Given the description of an element on the screen output the (x, y) to click on. 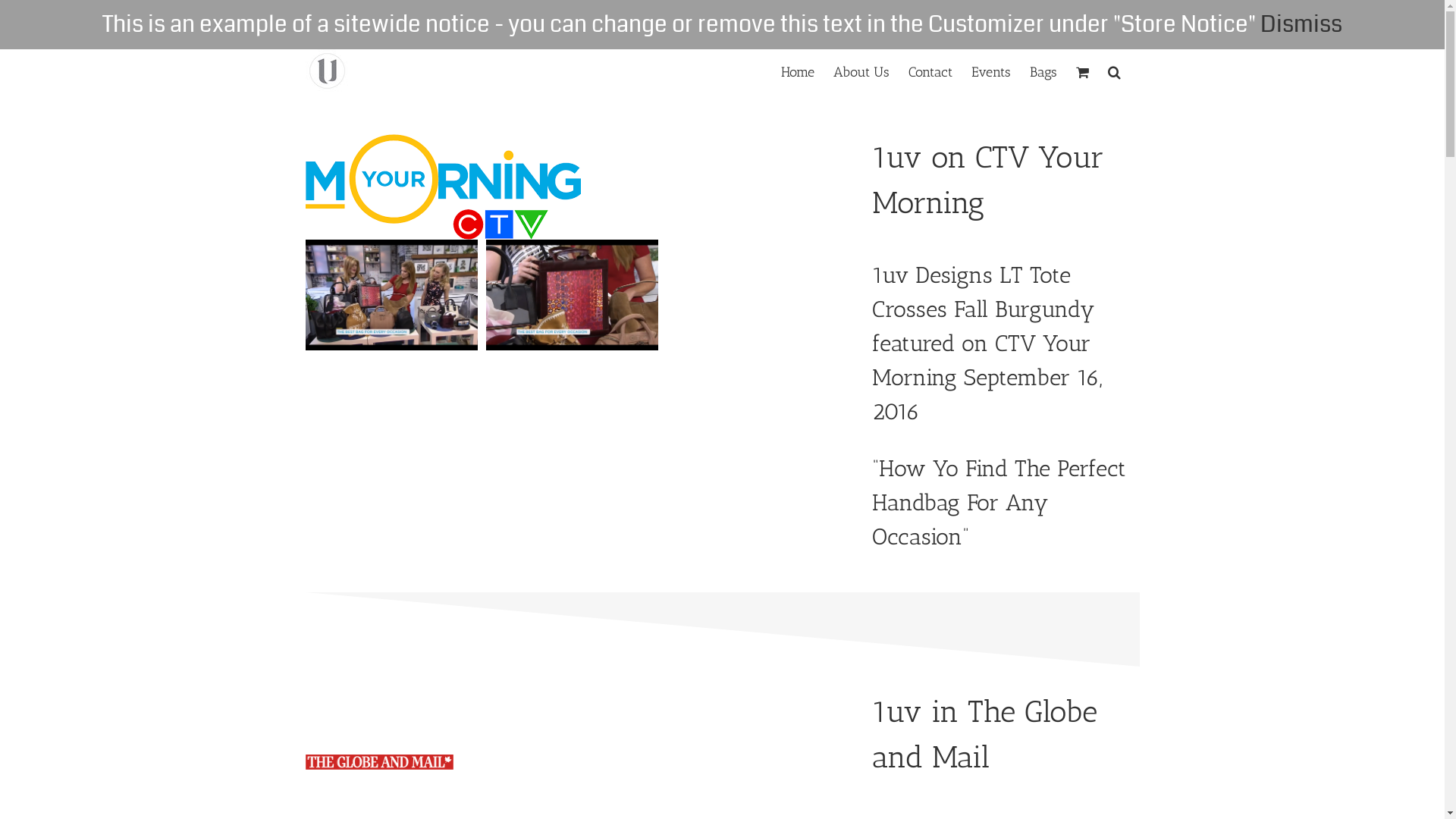
Bags Element type: text (1043, 70)
Screen Shot 2016-10-23 at 2.07.04 PM Element type: hover (390, 294)
Home Element type: text (797, 70)
About Us Element type: text (860, 70)
Contact Element type: text (930, 70)
Dismiss Element type: text (1301, 24)
Events Element type: text (990, 70)
Search Element type: hover (1113, 70)
Screen Shot 2016-10-23 at 2.05.32 PM Element type: hover (571, 294)
